Given the description of an element on the screen output the (x, y) to click on. 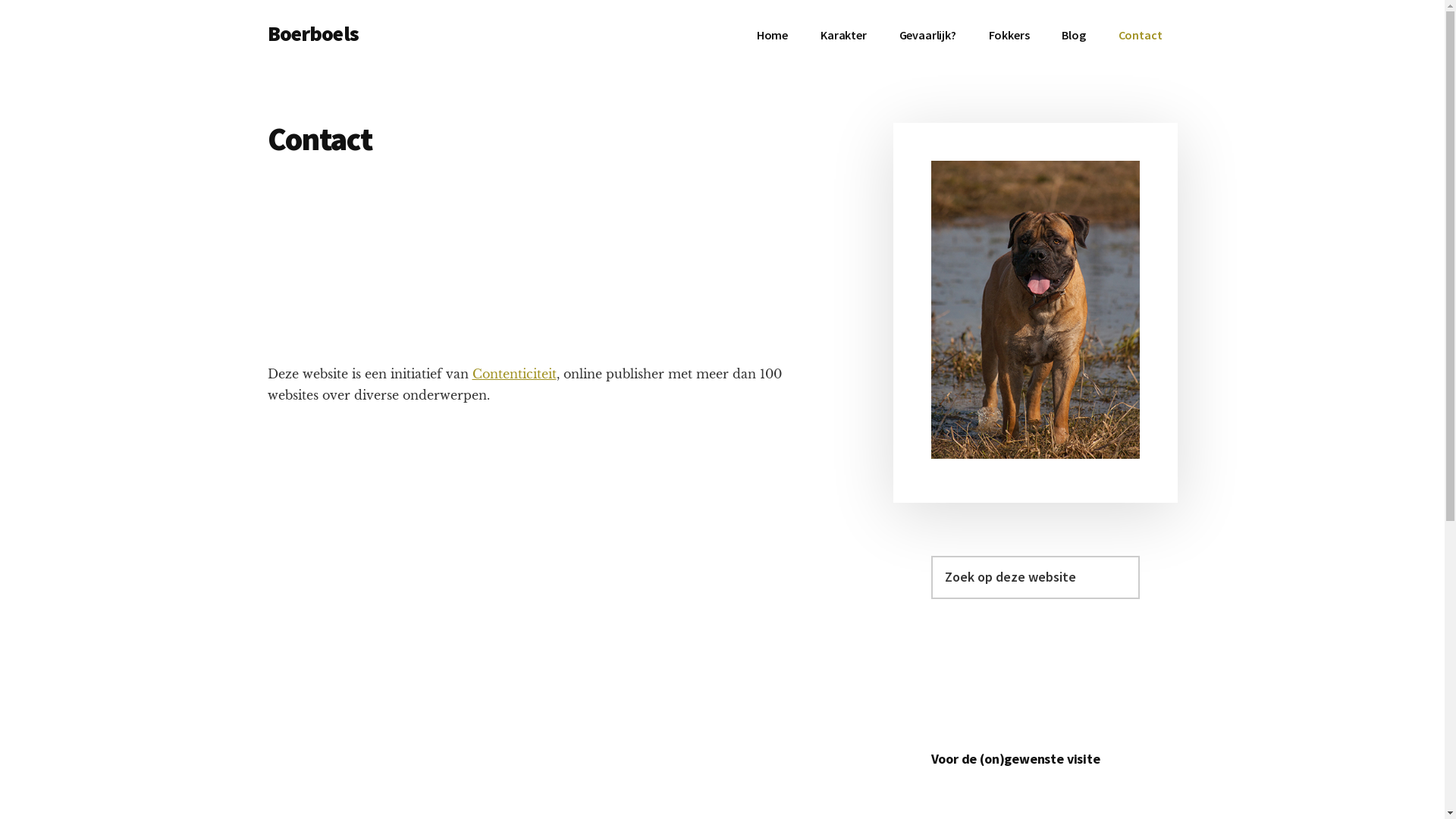
Home Element type: text (772, 34)
Zoek Element type: text (1139, 555)
Fokkers Element type: text (1008, 34)
Contact Element type: text (1140, 34)
Blog Element type: text (1073, 34)
Door naar de hoofd inhoud Element type: text (0, 0)
Gevaarlijk? Element type: text (927, 34)
Contenticiteit Element type: text (513, 373)
Karakter Element type: text (843, 34)
Boerboels Element type: text (311, 33)
